Given the description of an element on the screen output the (x, y) to click on. 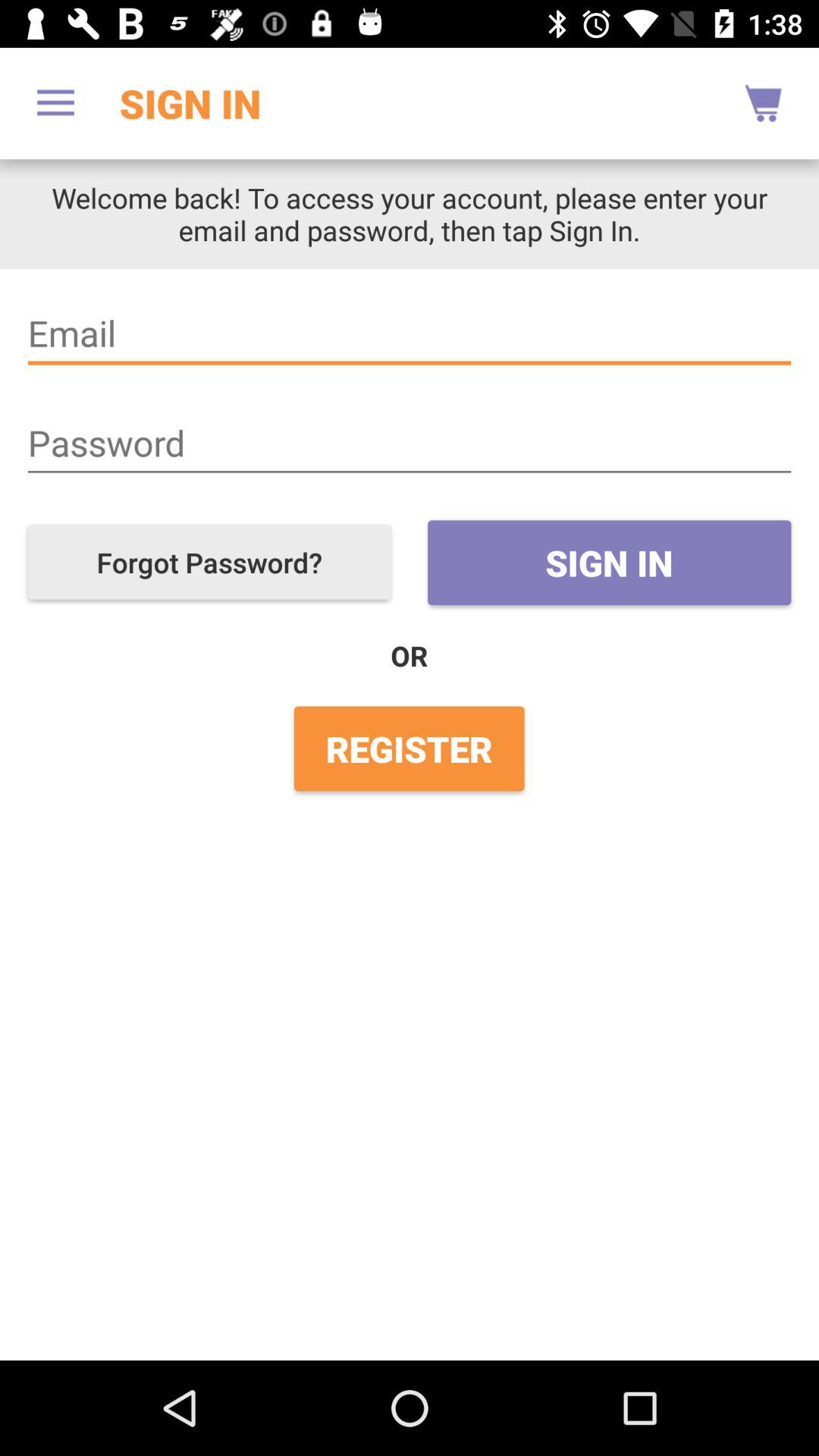
launch the item next to the sign in app (55, 103)
